Given the description of an element on the screen output the (x, y) to click on. 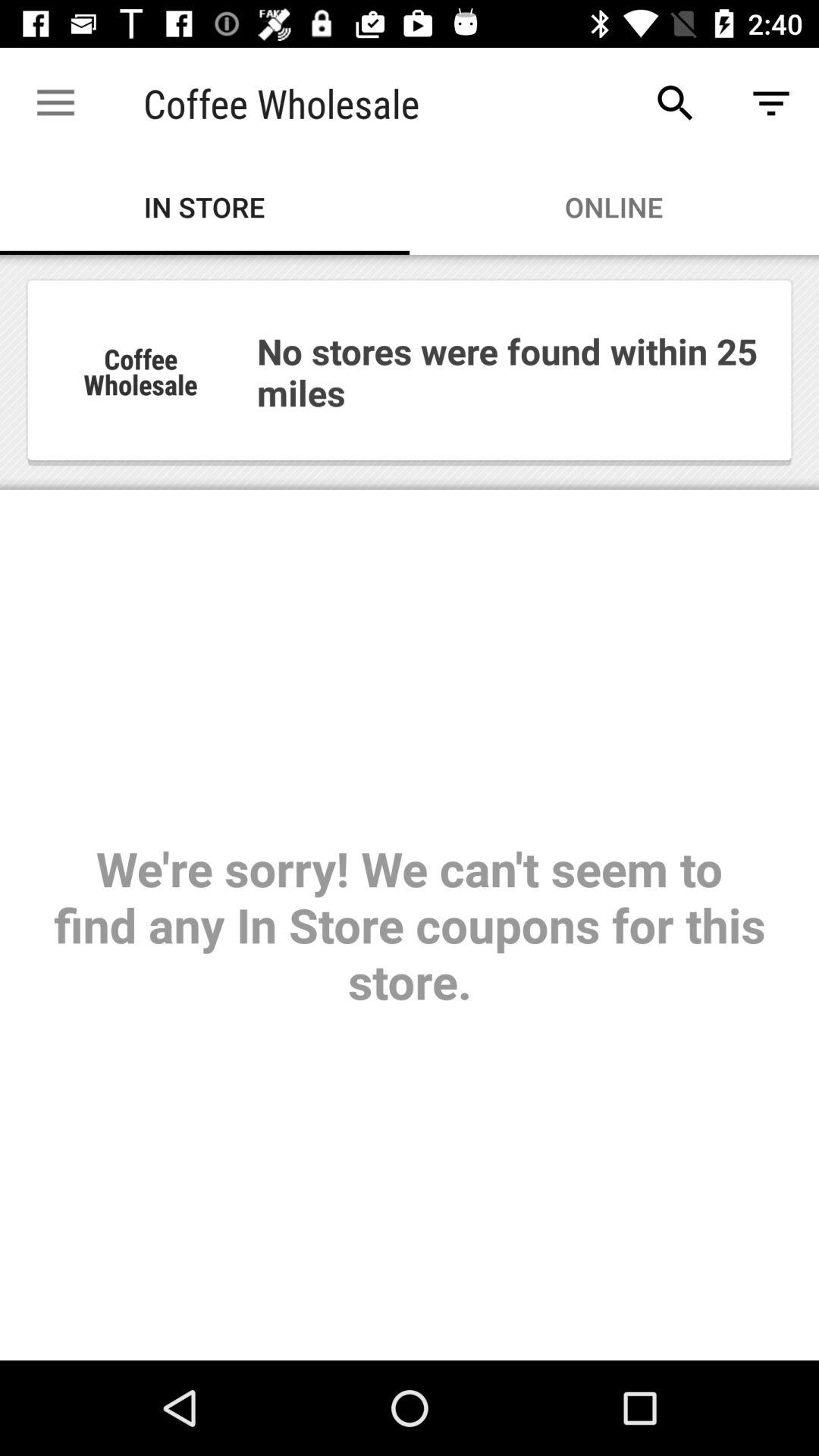
turn off item below the in store item (409, 807)
